Given the description of an element on the screen output the (x, y) to click on. 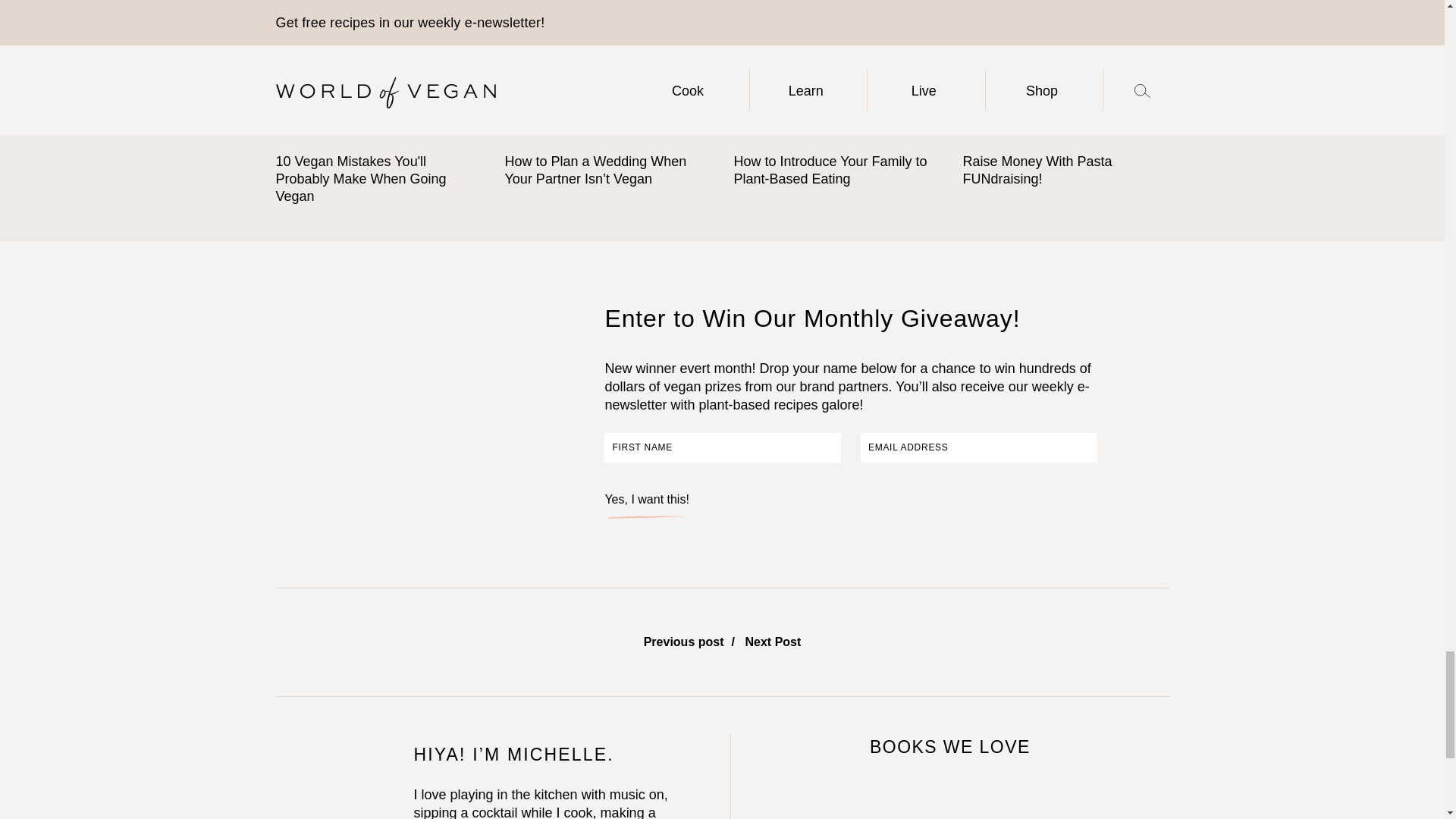
10 Vegan Mistakes You'll Probably Make When Going Vegan (378, 74)
How to Introduce Your Family to Plant-Based Eating (836, 74)
Raise Money With Pasta FUNdraising! (1065, 74)
